Given the description of an element on the screen output the (x, y) to click on. 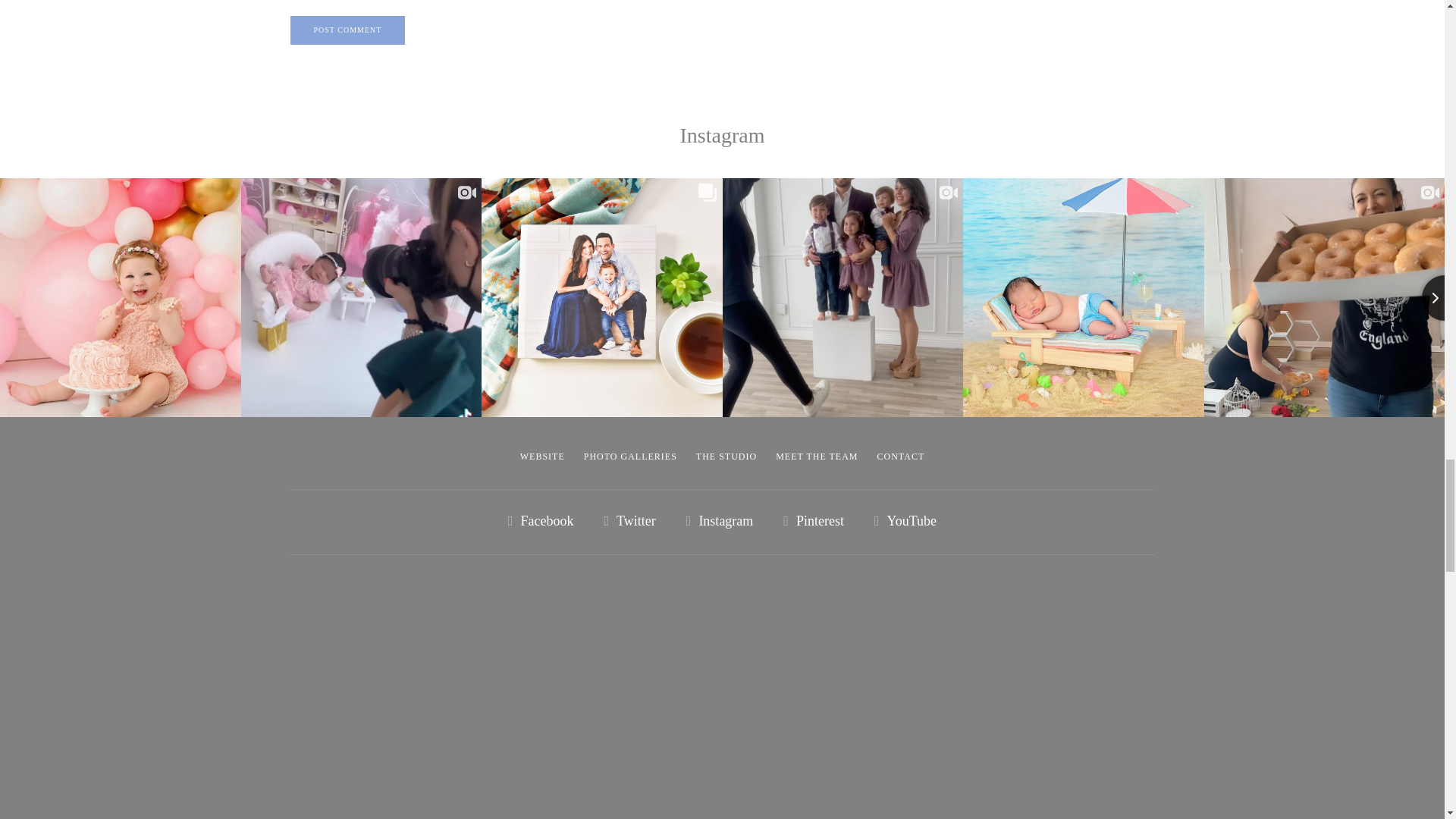
Post comment (346, 30)
